Given the description of an element on the screen output the (x, y) to click on. 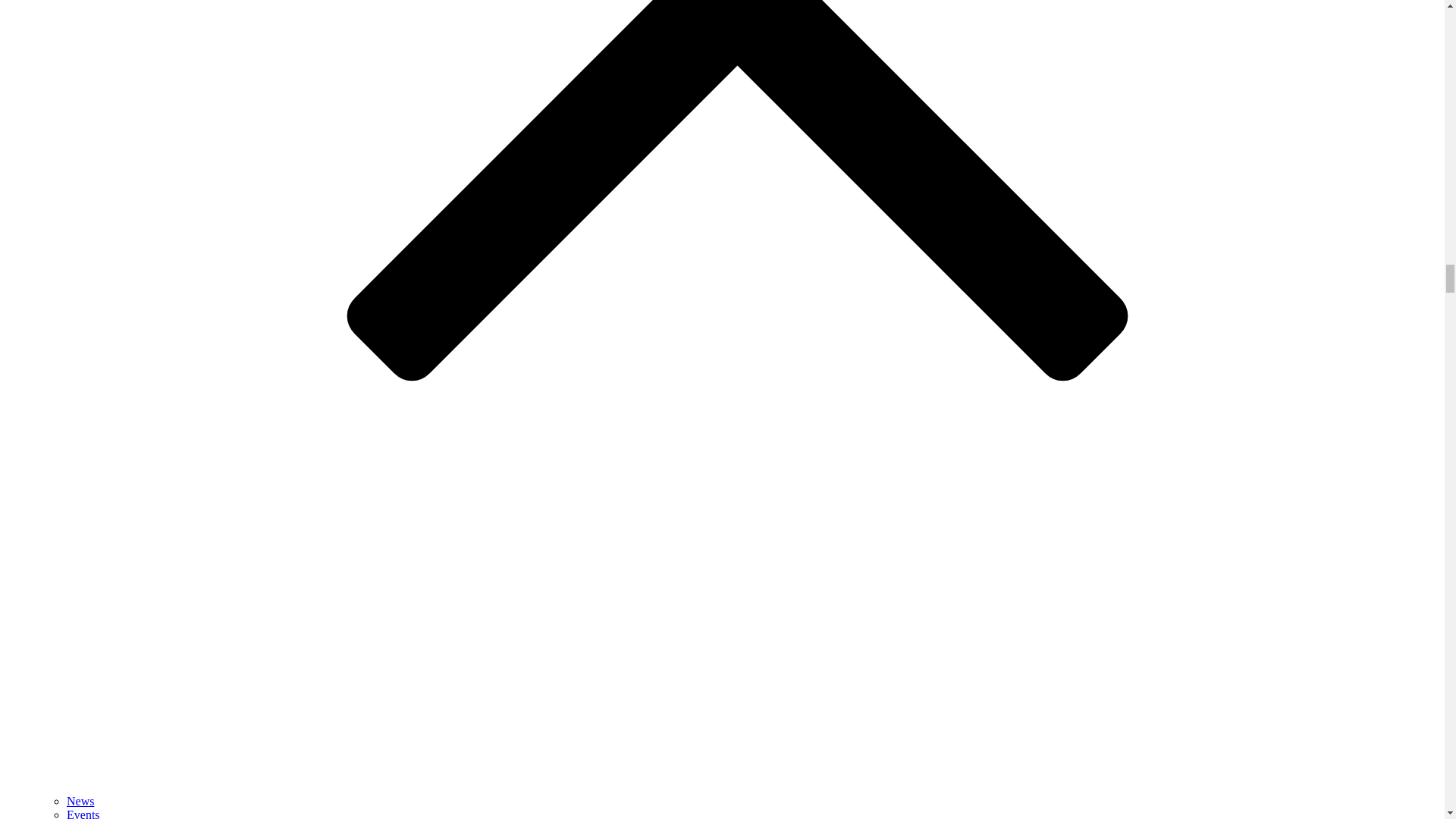
News (80, 800)
Events (83, 813)
